Given the description of an element on the screen output the (x, y) to click on. 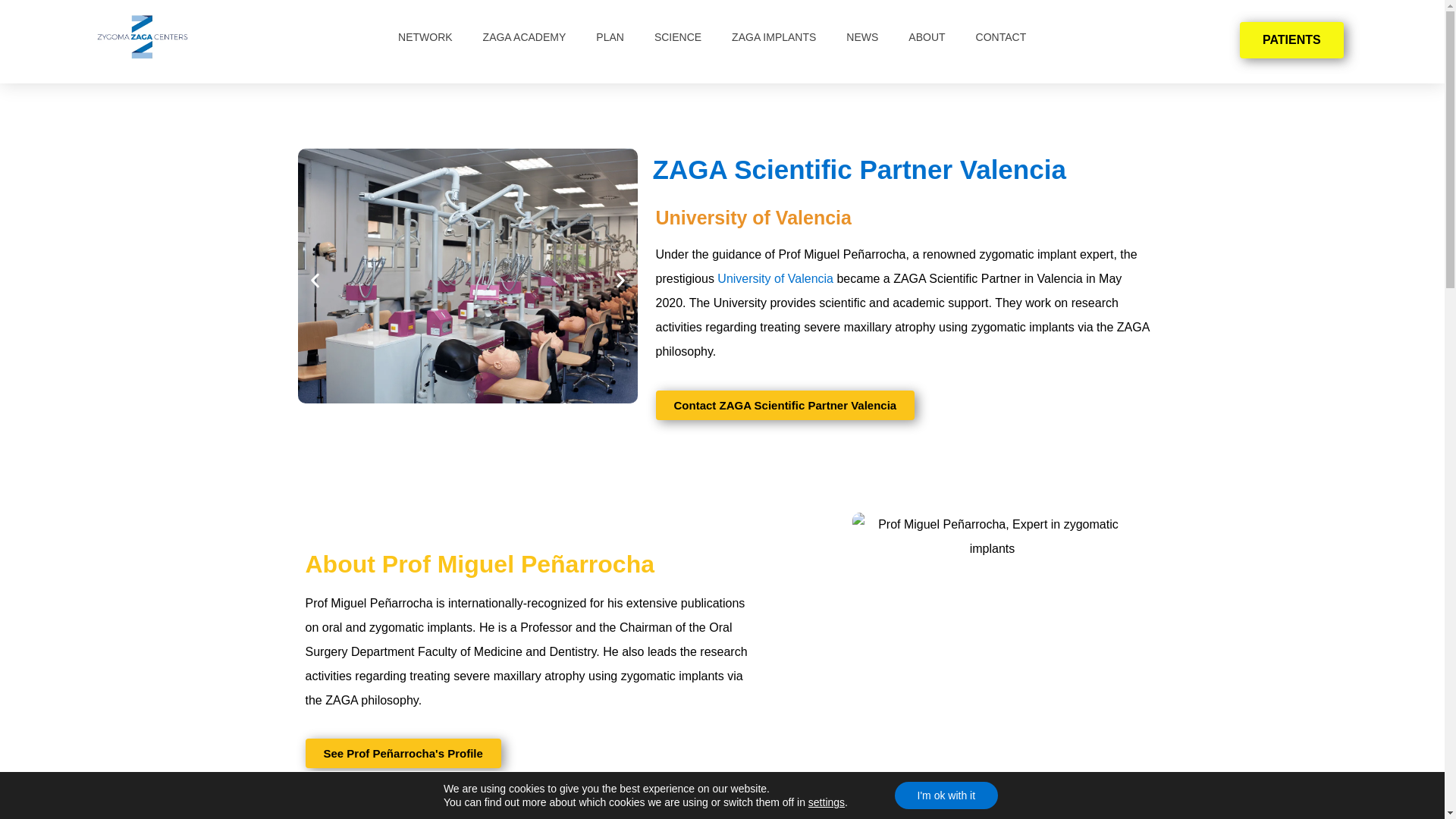
PLAN (609, 36)
CONTACT (1001, 36)
SCIENCE (677, 36)
ZAGA IMPLANTS (773, 36)
NEWS (862, 36)
ZAGA ACADEMY (523, 36)
ABOUT (926, 36)
NETWORK (424, 36)
